Given the description of an element on the screen output the (x, y) to click on. 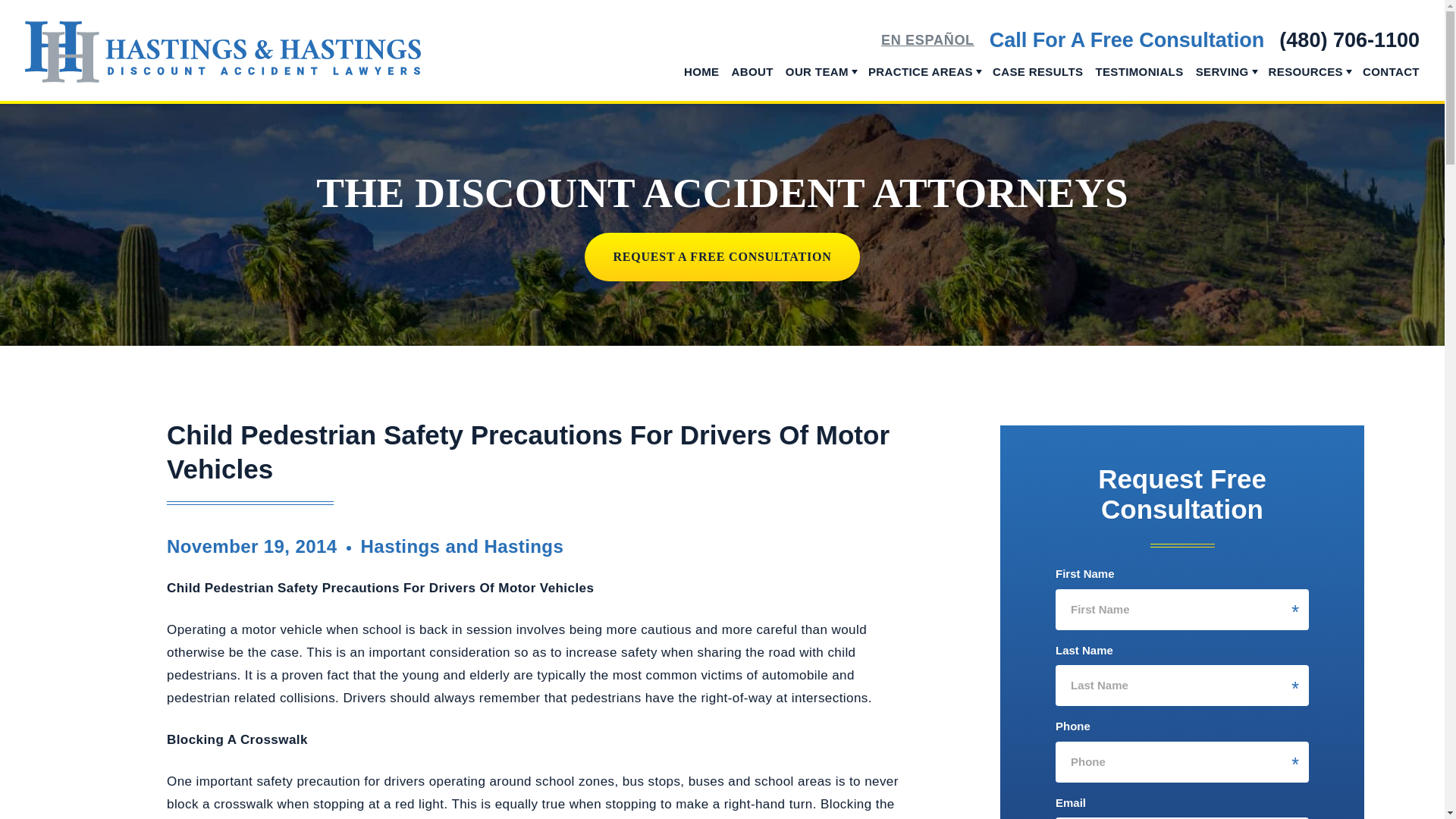
RESOURCES (1305, 85)
CONTACT (1390, 81)
PRACTICE AREAS (919, 85)
REQUEST A FREE CONSULTATION (722, 256)
CASE RESULTS (1037, 81)
SERVING (1222, 85)
HOME (701, 81)
OUR TEAM (817, 85)
TESTIMONIALS (1138, 81)
ABOUT (752, 81)
